Given the description of an element on the screen output the (x, y) to click on. 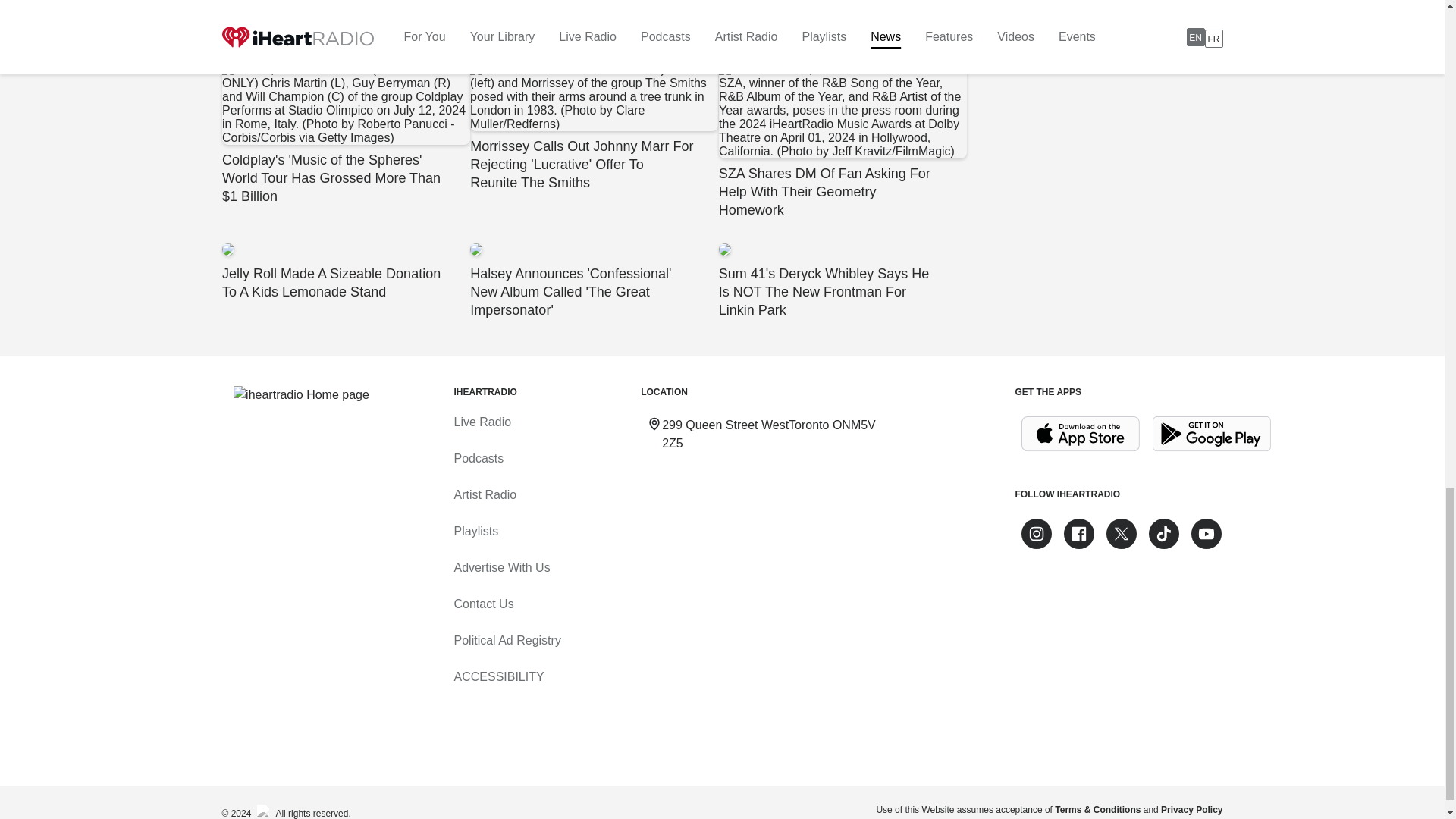
Live Radio (481, 421)
Jelly Roll Made A Sizeable Donation To A Kids Lemonade Stand (344, 272)
Privacy Policy (1191, 809)
Accessibility (497, 676)
Podcasts (477, 458)
Get it on Google Play (1212, 434)
